Given the description of an element on the screen output the (x, y) to click on. 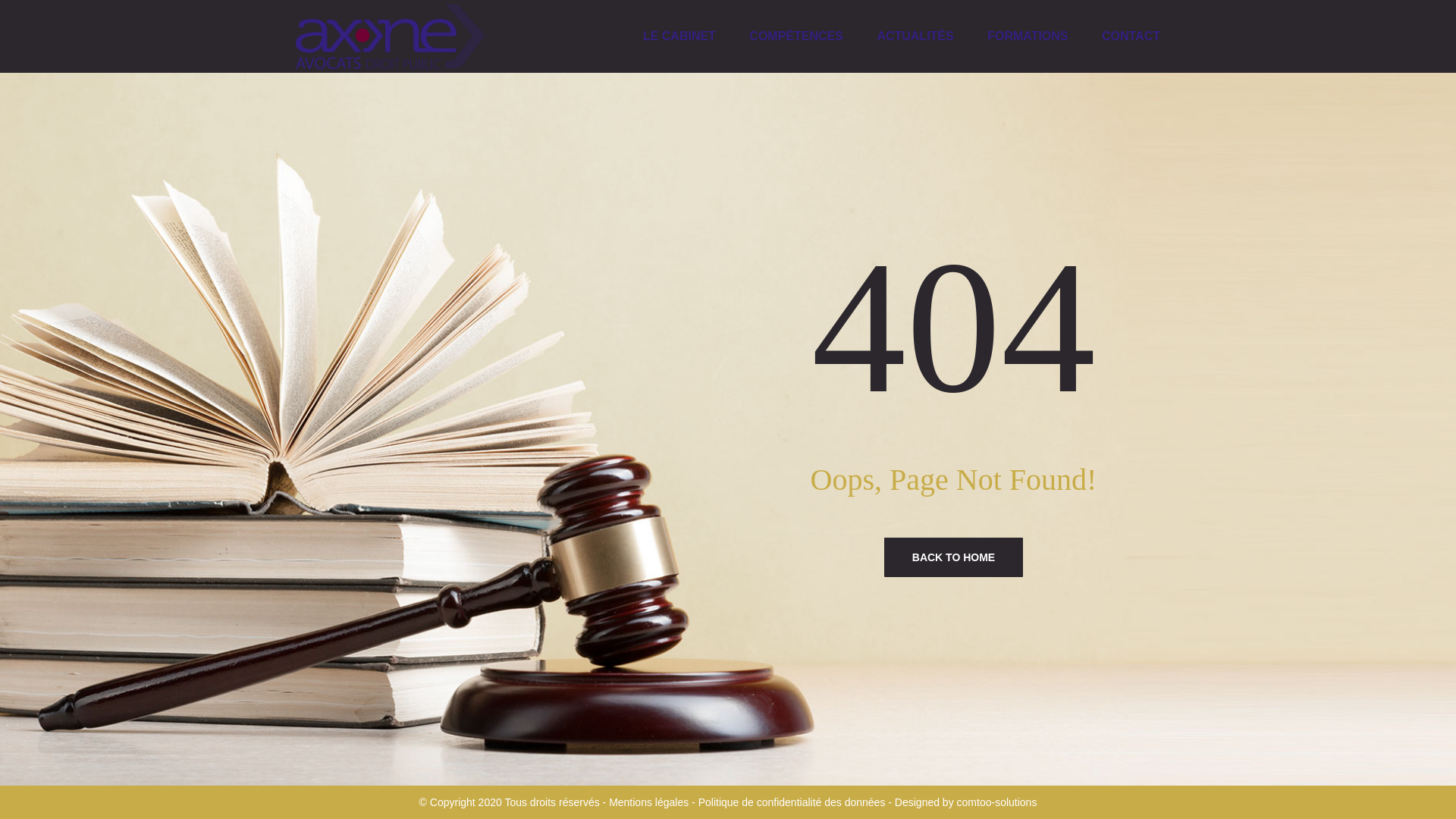
CONTACT (1131, 35)
LE CABINET (679, 35)
FORMATIONS (1027, 35)
comtoo-solutions (996, 802)
BACK TO HOME (953, 557)
